Given the description of an element on the screen output the (x, y) to click on. 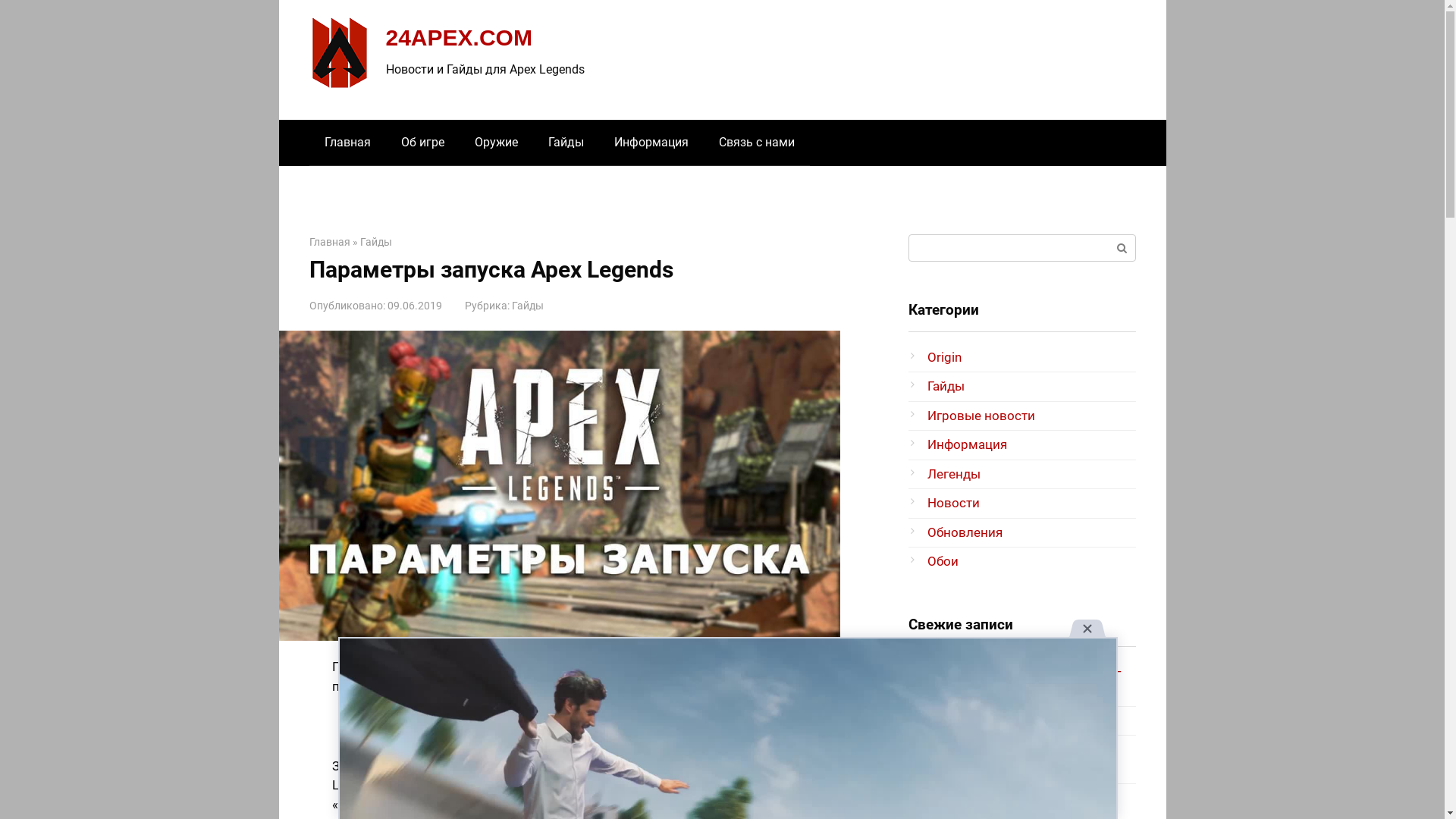
Origin Element type: text (943, 356)
24APEX.COM Element type: text (458, 37)
